Given the description of an element on the screen output the (x, y) to click on. 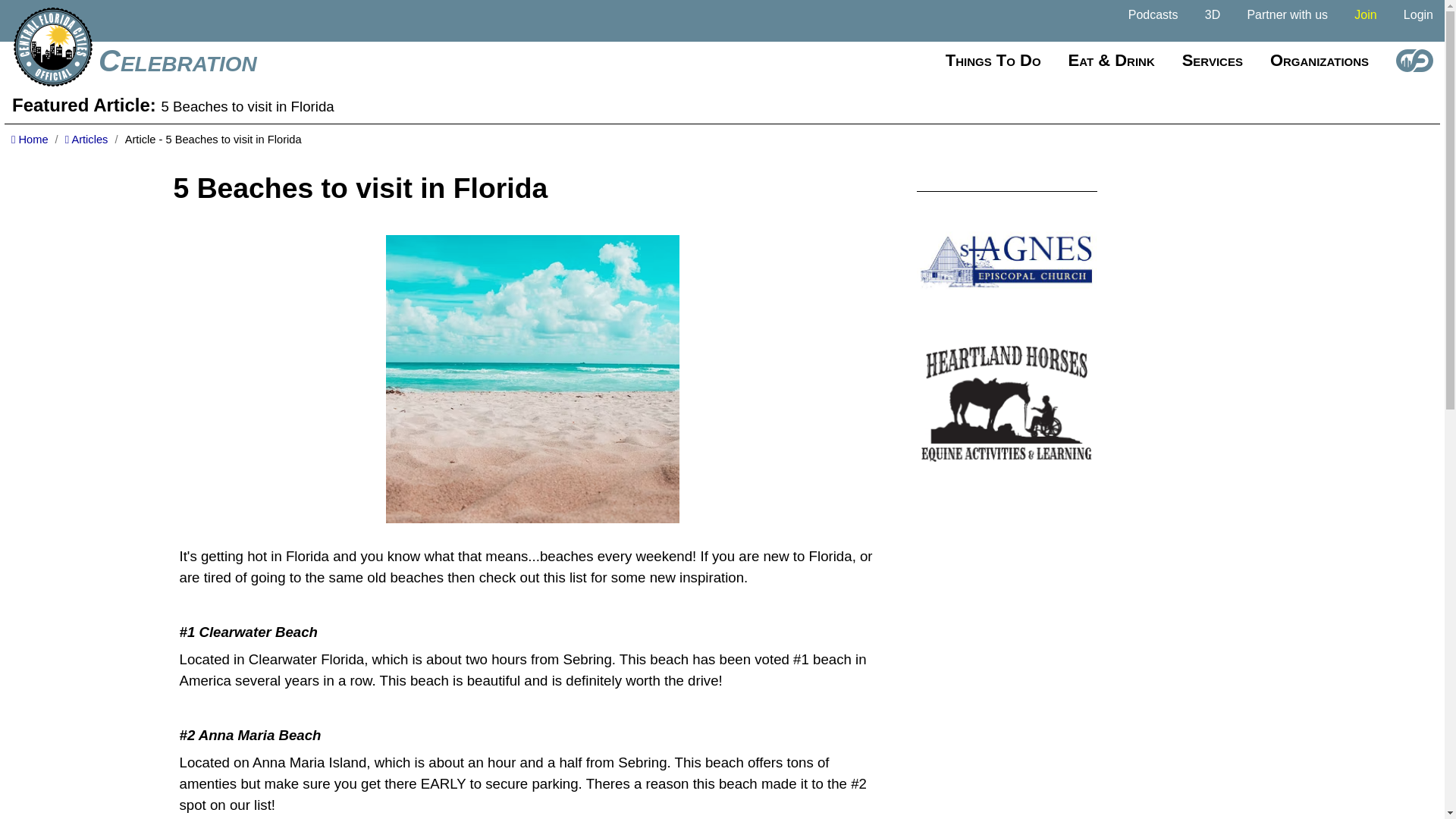
Celebration (178, 60)
Login (1418, 15)
Join (1365, 15)
Partner with us (1287, 15)
3D (1211, 15)
Podcasts (1153, 15)
